Given the description of an element on the screen output the (x, y) to click on. 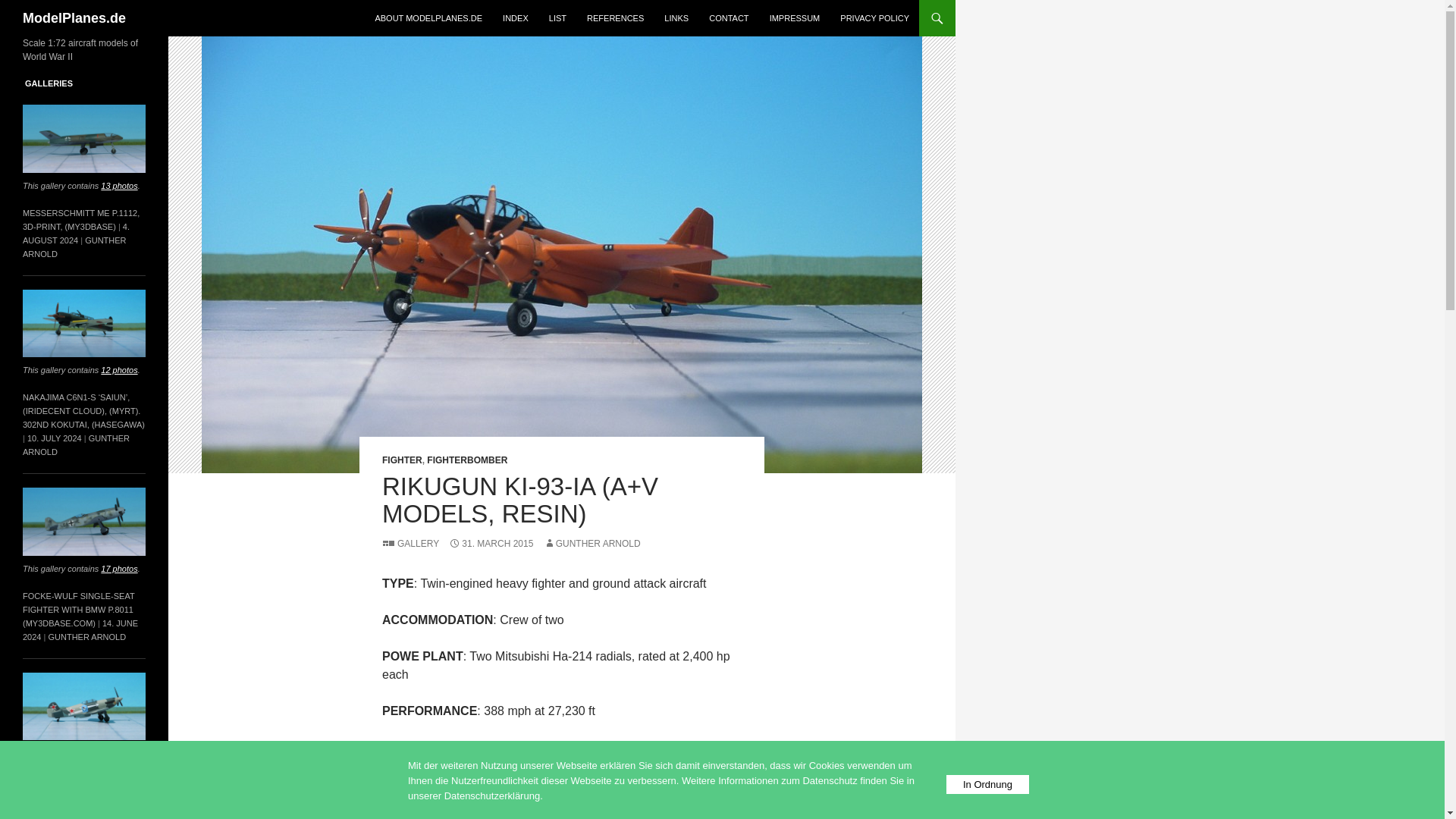
13 photos (118, 185)
ABOUT MODELPLANES.DE (428, 18)
PRIVACY POLICY (874, 18)
CONTACT (728, 18)
GUNTHER ARNOLD (591, 543)
LIST (557, 18)
ModelPlanes.de (74, 18)
LINKS (676, 18)
INDEX (515, 18)
FIGHTER (401, 460)
